Given the description of an element on the screen output the (x, y) to click on. 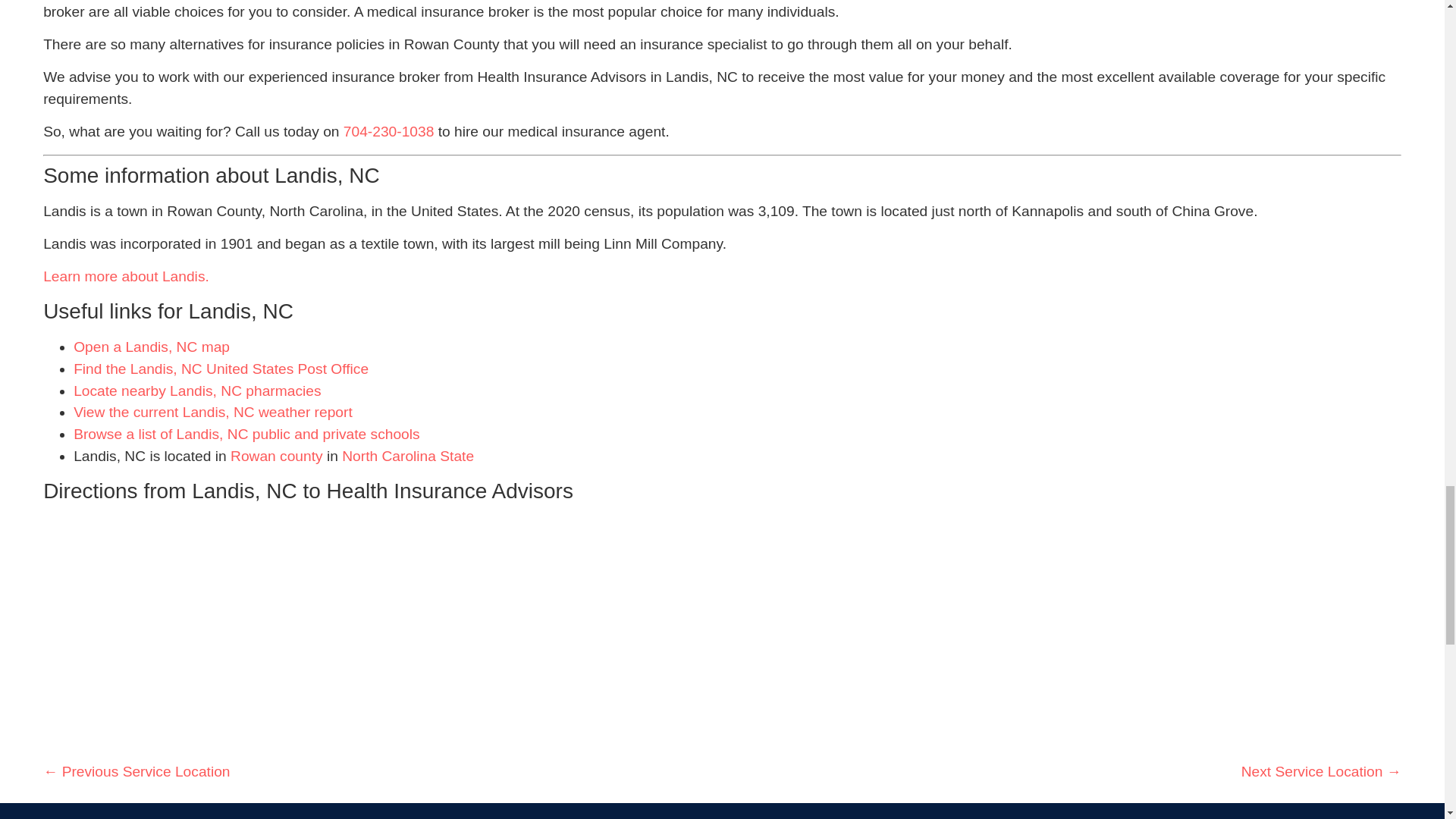
Find the Landis, NC United States Post Office (221, 368)
View the current Landis, NC weather report (213, 412)
Open a Landis, NC map (152, 346)
704-230-1038 (388, 131)
Learn more about Landis. (126, 276)
North Carolina State (408, 455)
Browse a list of Landis, NC public and private schools (246, 433)
Rowan county (276, 455)
Locate nearby Landis, NC pharmacies (197, 390)
